Given the description of an element on the screen output the (x, y) to click on. 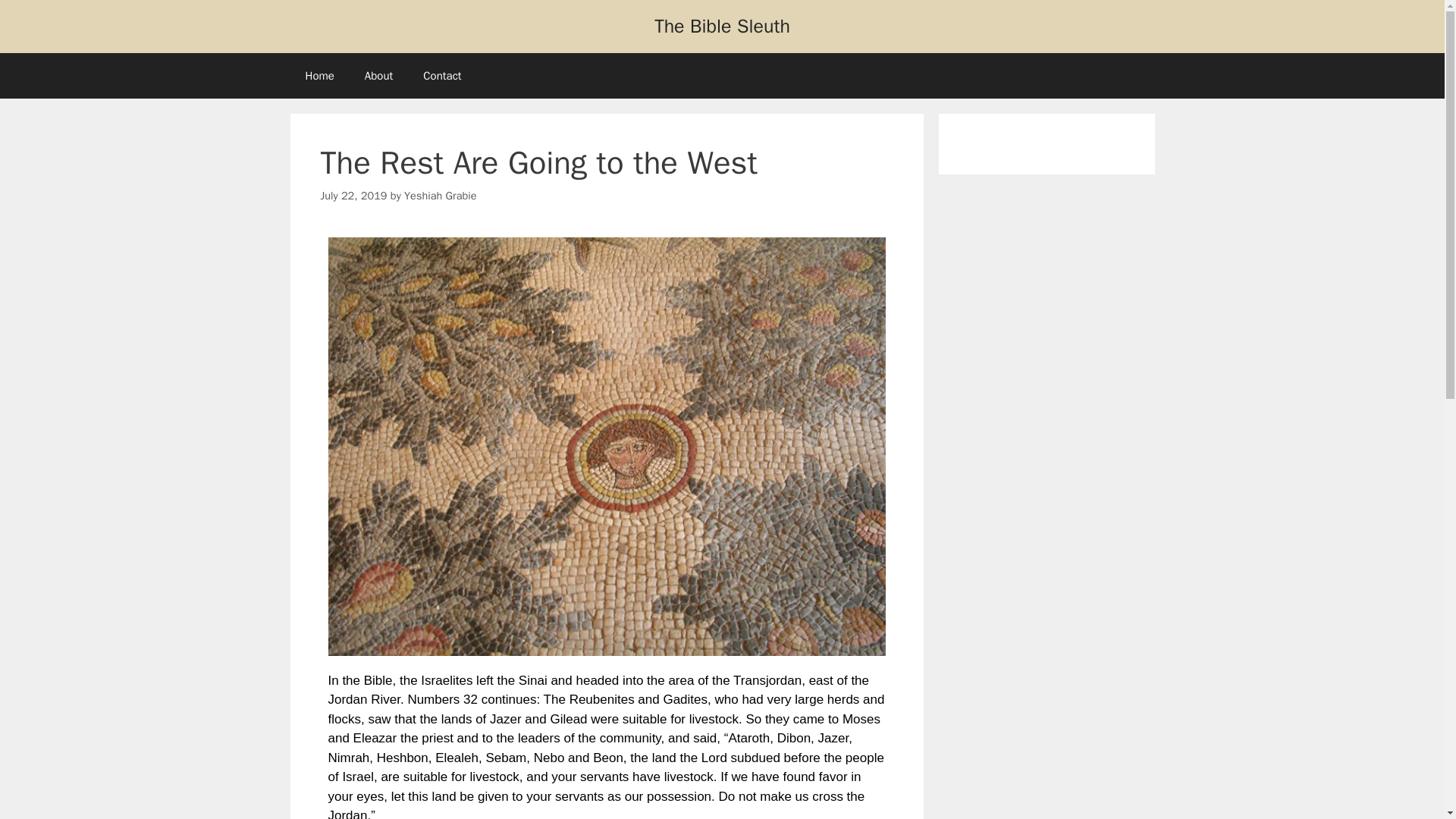
About (378, 75)
Home (319, 75)
Contact (441, 75)
View all posts by Yeshiah Grabie (440, 195)
The Bible Sleuth (721, 25)
Yeshiah Grabie (440, 195)
